Given the description of an element on the screen output the (x, y) to click on. 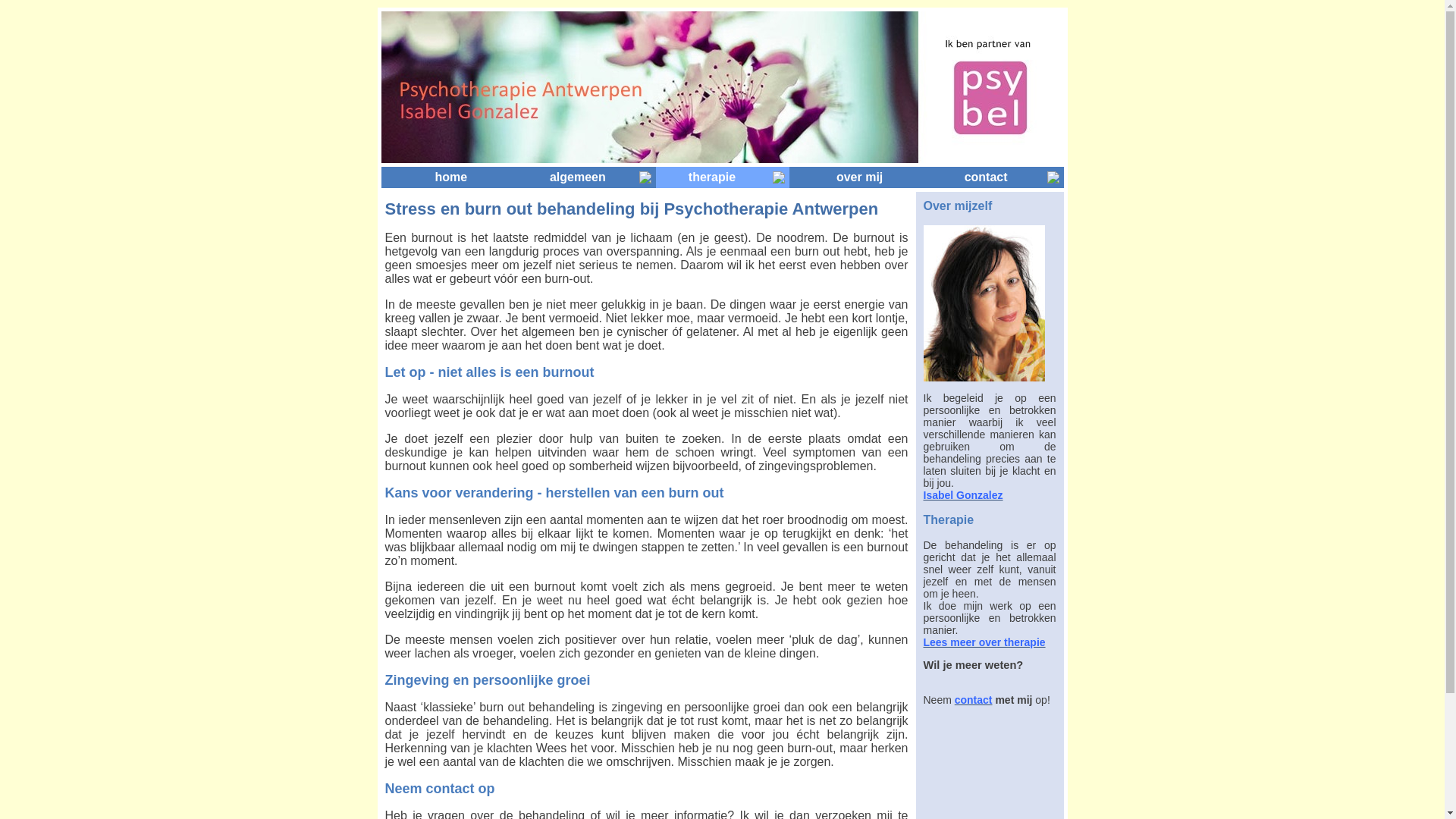
contact Element type: text (985, 177)
over mij Element type: text (859, 177)
home Element type: text (451, 177)
Isabel Gonzalez Element type: text (963, 495)
Lees meer over therapie Element type: text (984, 642)
Psychotherapie Antwerpen - Isabel Gonzalez Element type: hover (983, 303)
therapie Element type: text (712, 177)
contact Element type: text (973, 699)
algemeen Element type: text (577, 177)
